Given the description of an element on the screen output the (x, y) to click on. 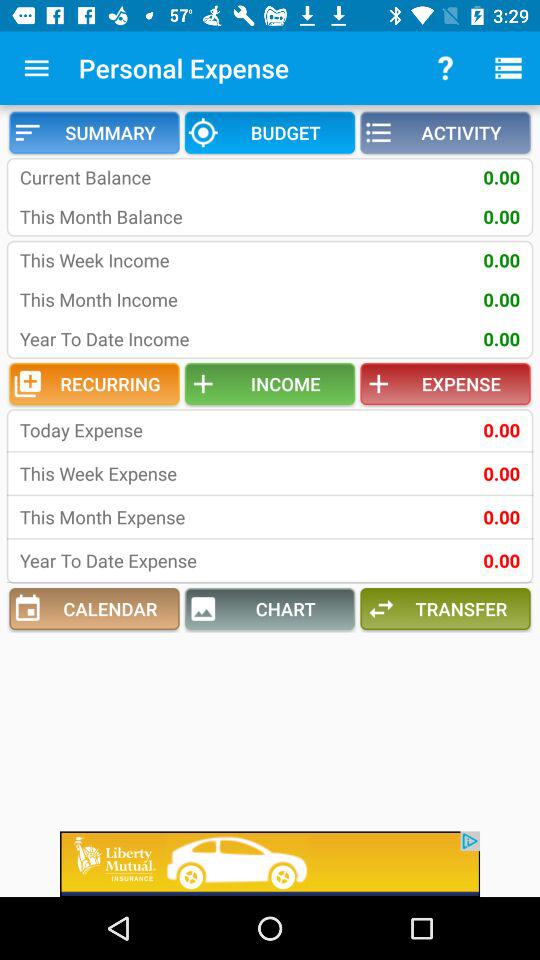
jump until the budget (269, 132)
